Given the description of an element on the screen output the (x, y) to click on. 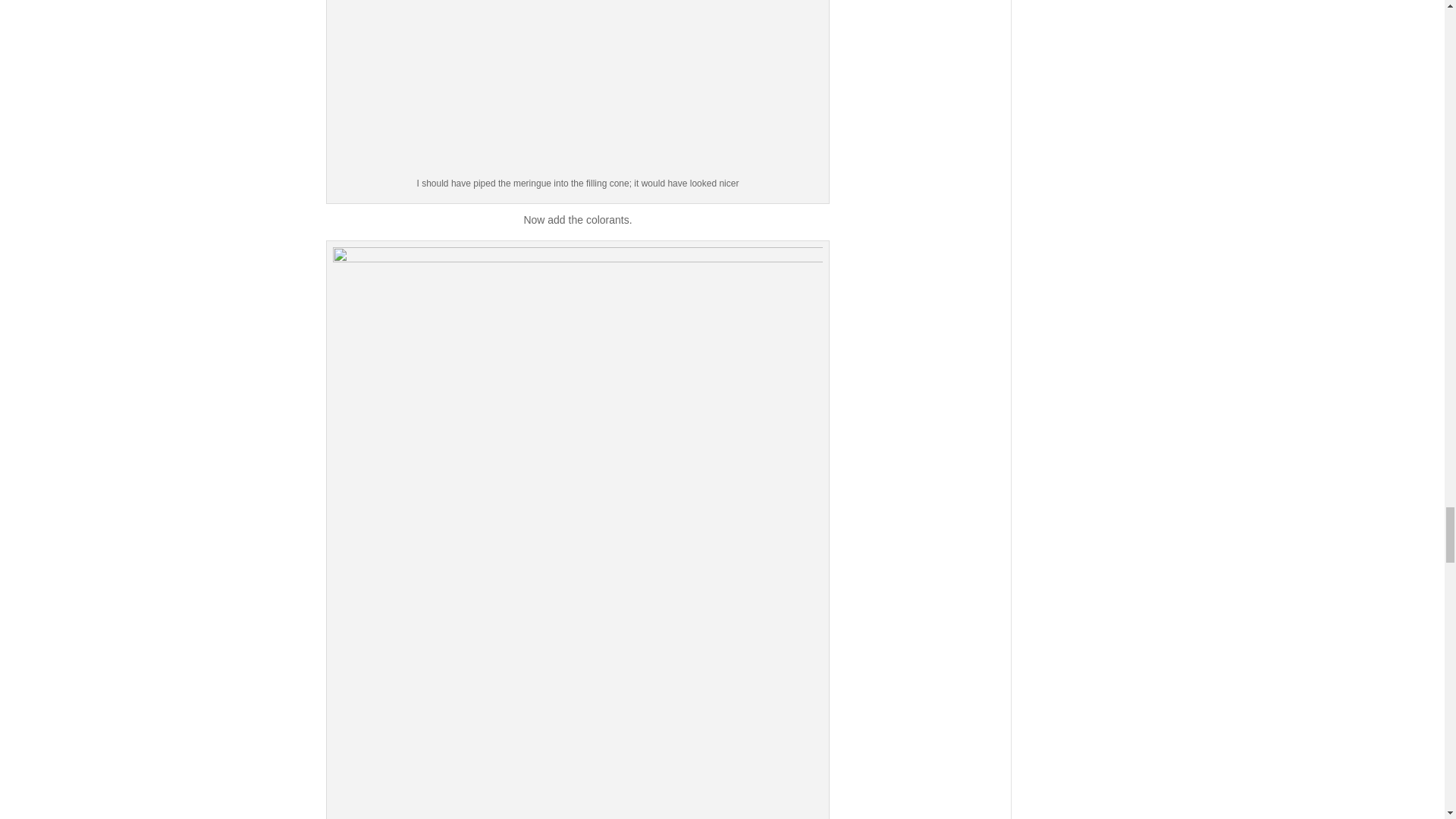
meringuefillingcone2202 (577, 87)
